Given the description of an element on the screen output the (x, y) to click on. 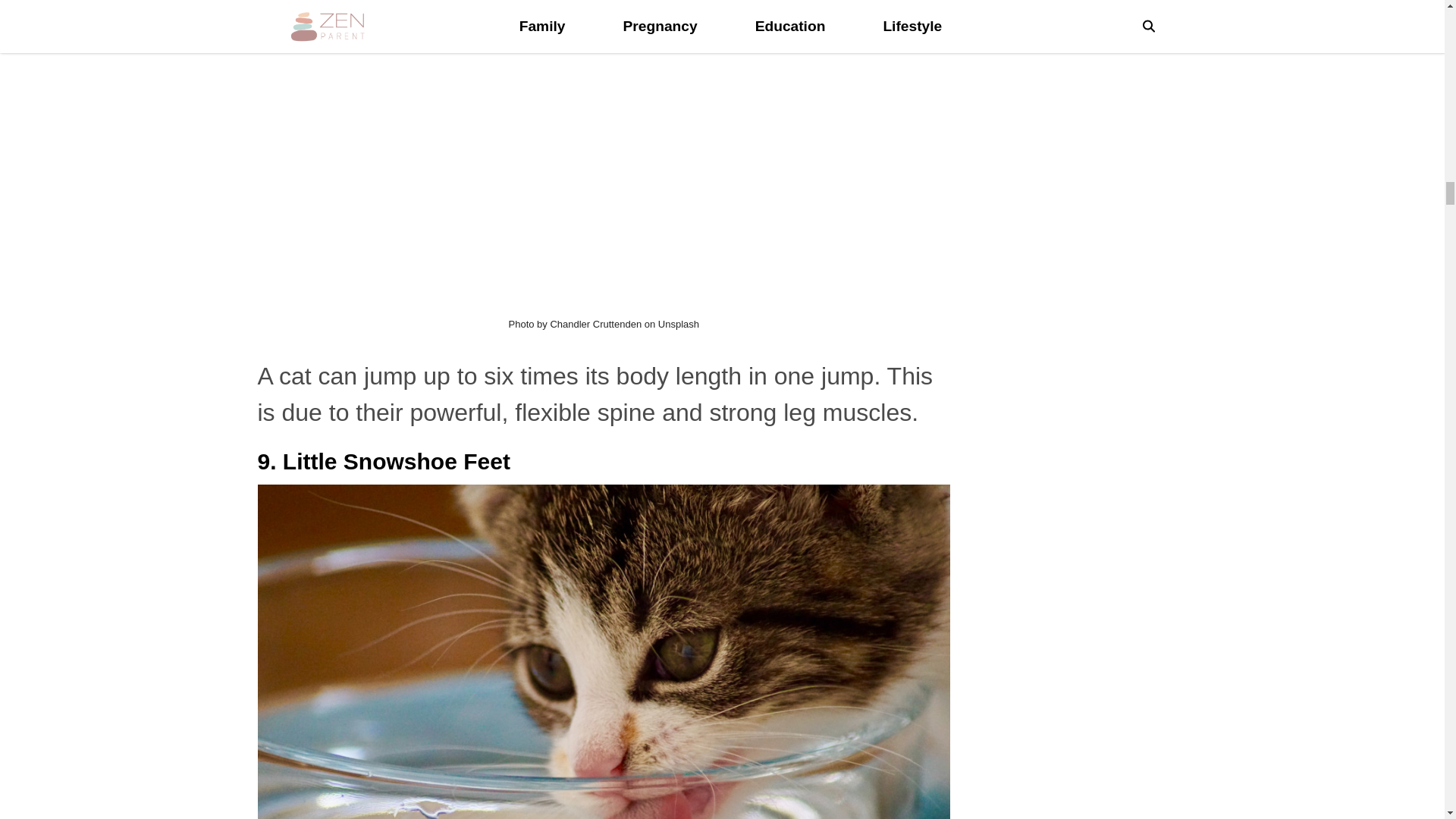
Photo by Chandler Cruttenden on Unsplash (603, 324)
